Given the description of an element on the screen output the (x, y) to click on. 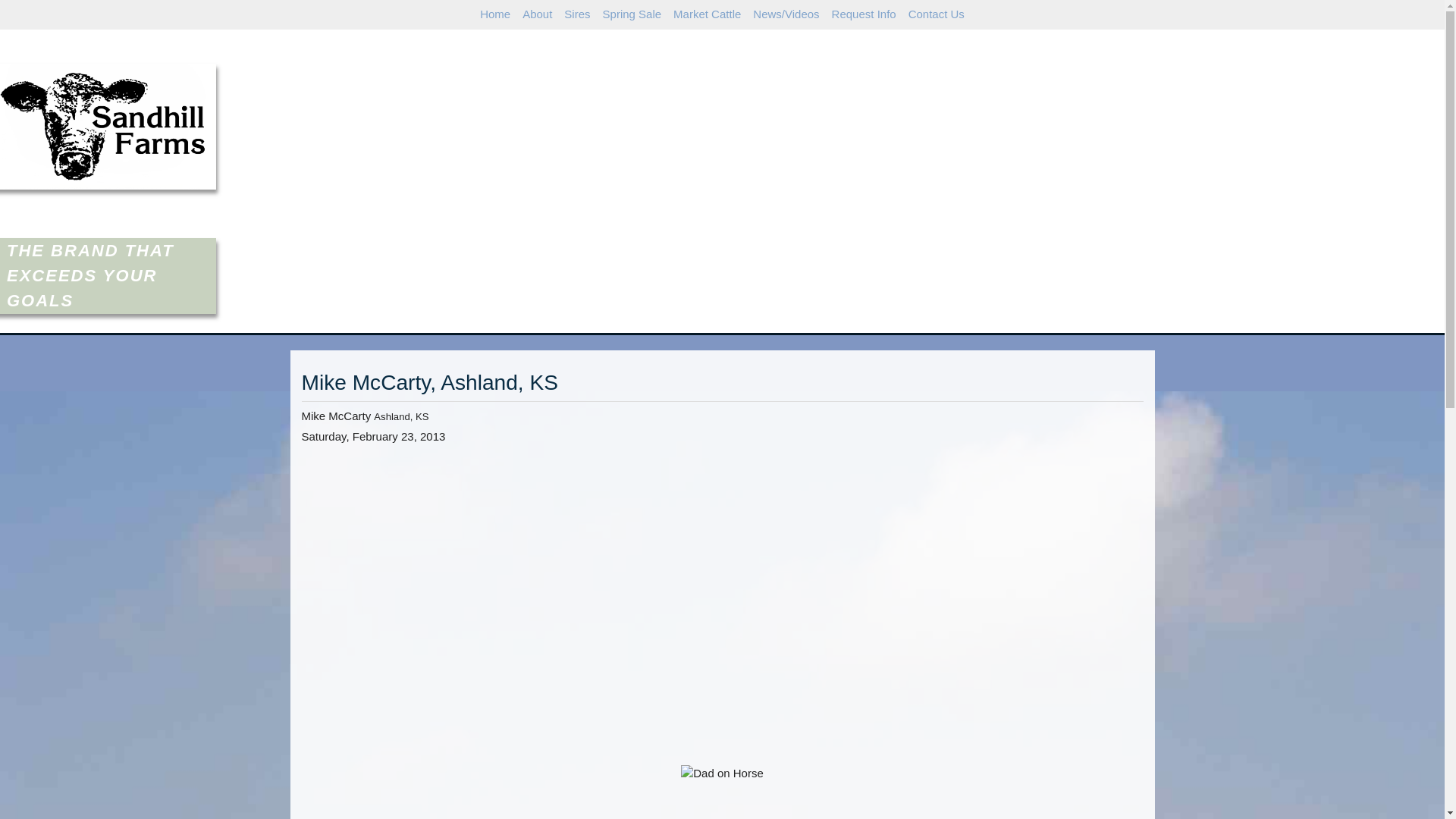
Spring Sale (632, 14)
Request Info (863, 14)
Home (495, 14)
Market Cattle (706, 14)
Sires (576, 14)
About (536, 14)
Contact Us (936, 14)
